Given the description of an element on the screen output the (x, y) to click on. 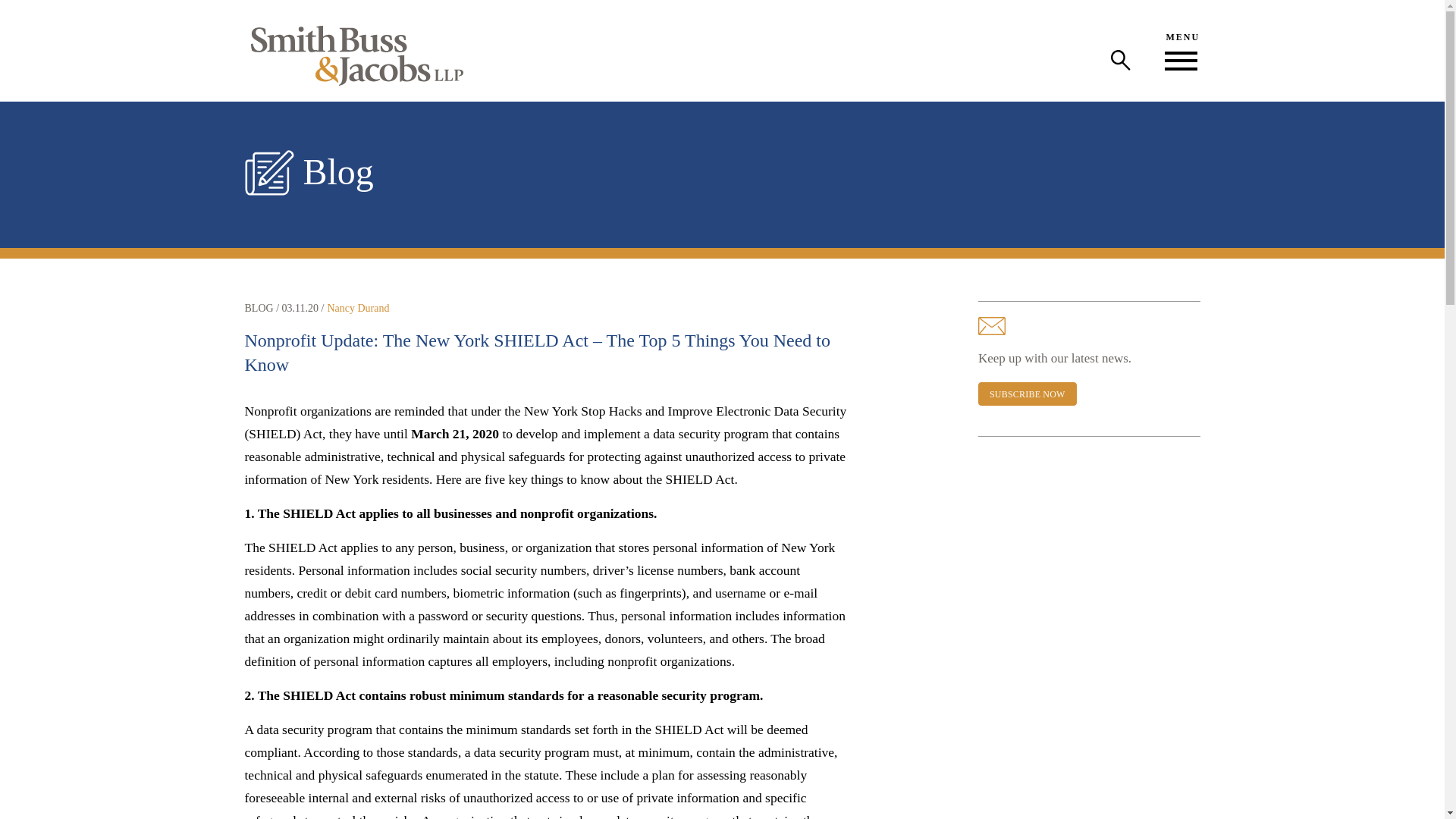
SUBSCRIBE NOW (1027, 393)
BLOG (258, 308)
Nancy Durand (357, 307)
MENU (1180, 50)
